Given the description of an element on the screen output the (x, y) to click on. 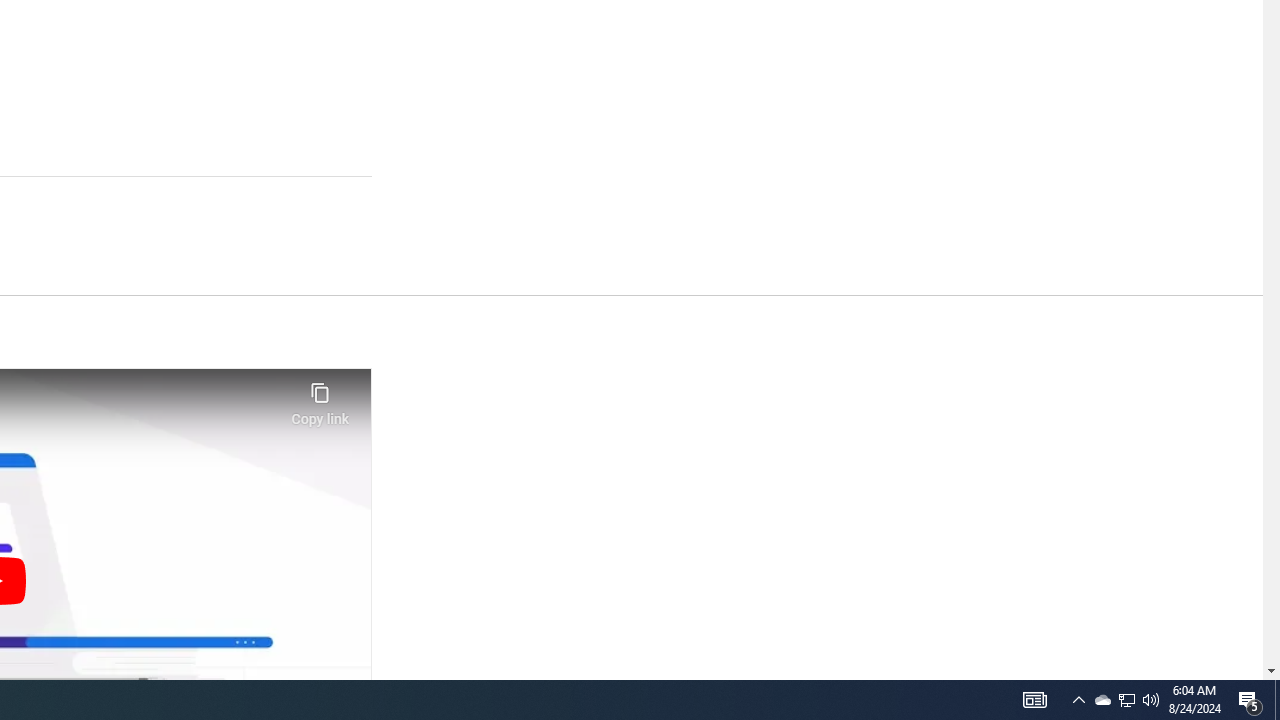
Copy link (319, 398)
